Given the description of an element on the screen output the (x, y) to click on. 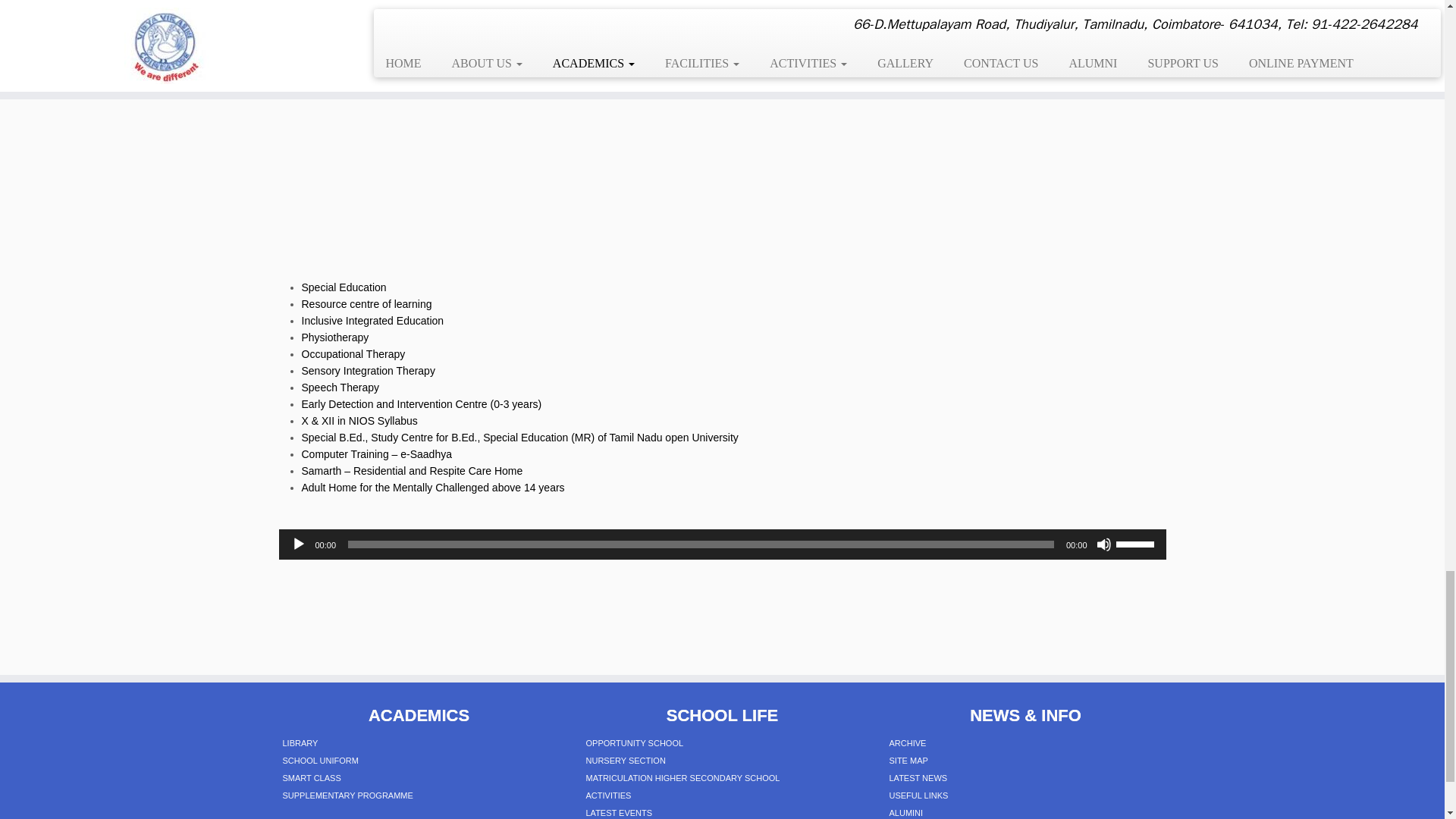
Mute (1104, 544)
Play (298, 544)
